Given the description of an element on the screen output the (x, y) to click on. 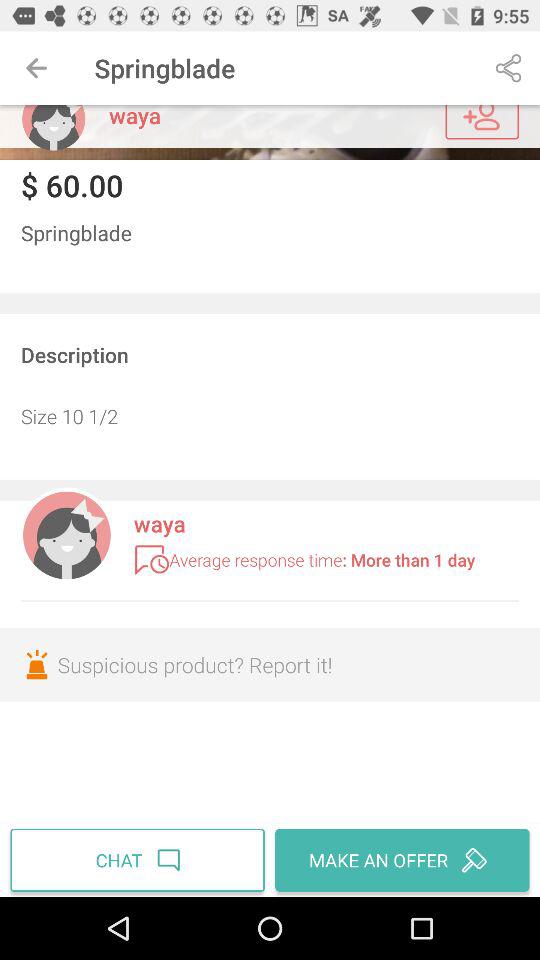
click chat at the bottom left corner (139, 860)
